Given the description of an element on the screen output the (x, y) to click on. 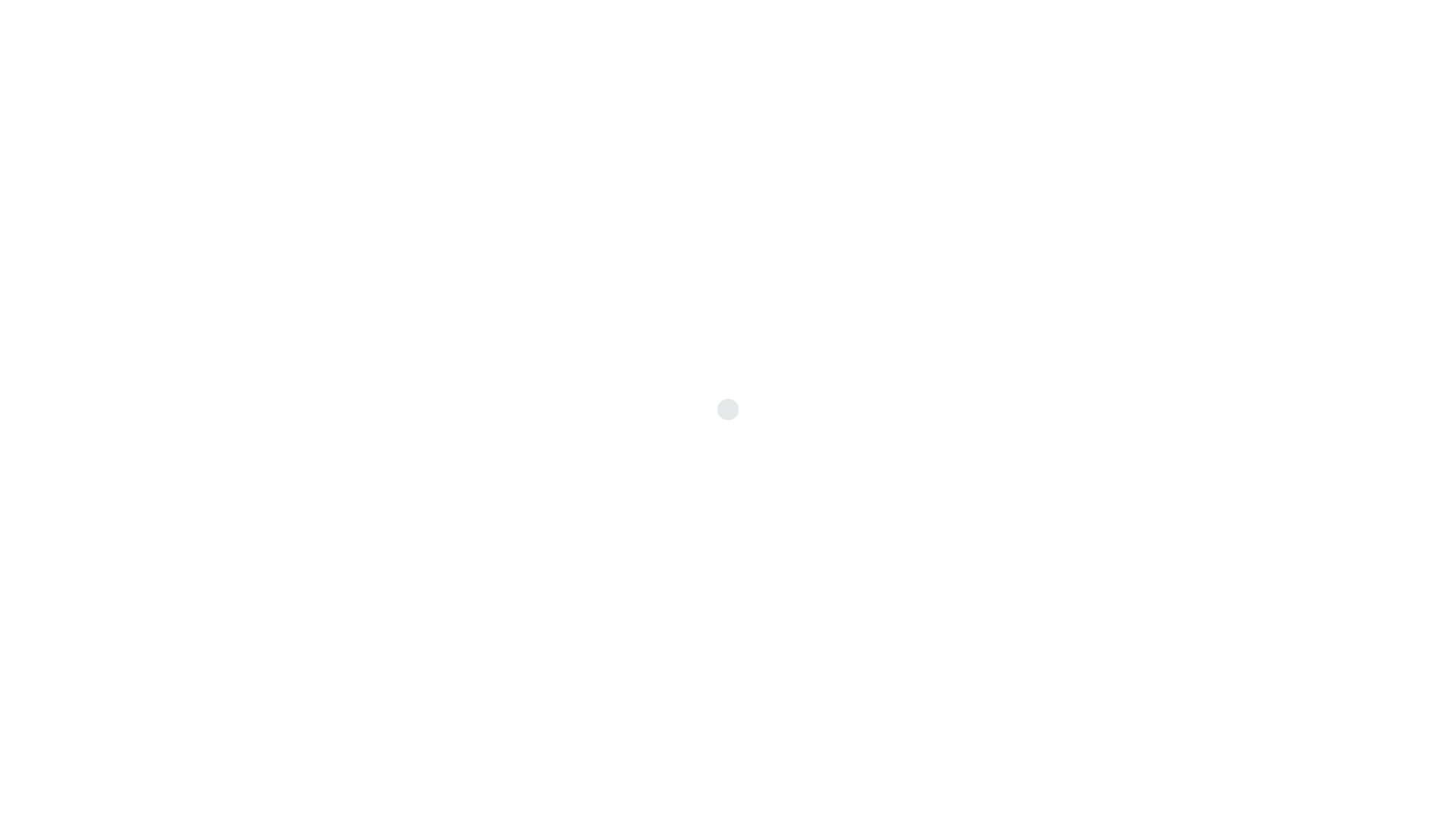
homepage Element type: text (1091, 748)
